Given the description of an element on the screen output the (x, y) to click on. 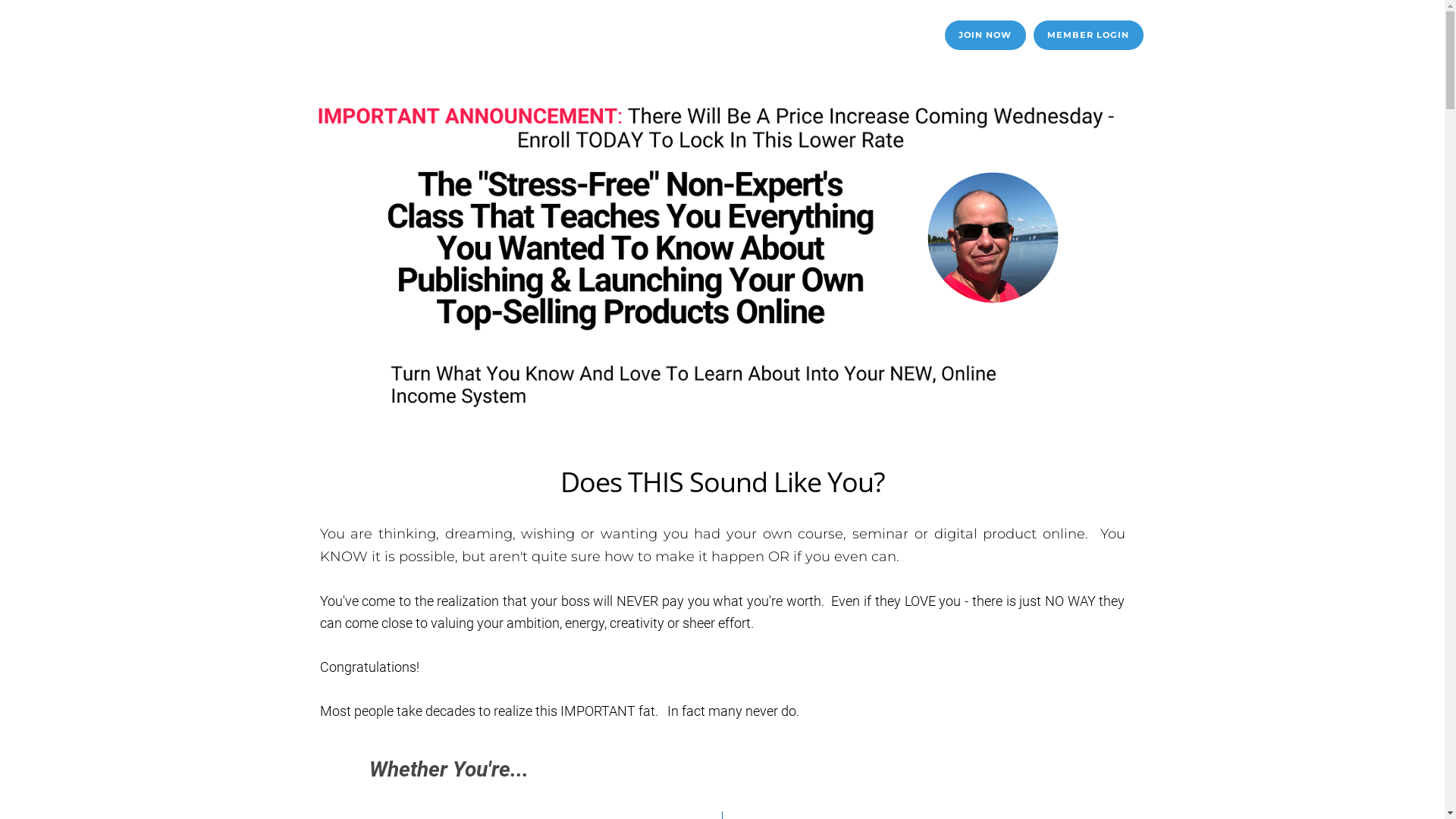
MEMBER LOGIN Element type: text (1087, 35)
JOIN NOW Element type: text (985, 35)
